Given the description of an element on the screen output the (x, y) to click on. 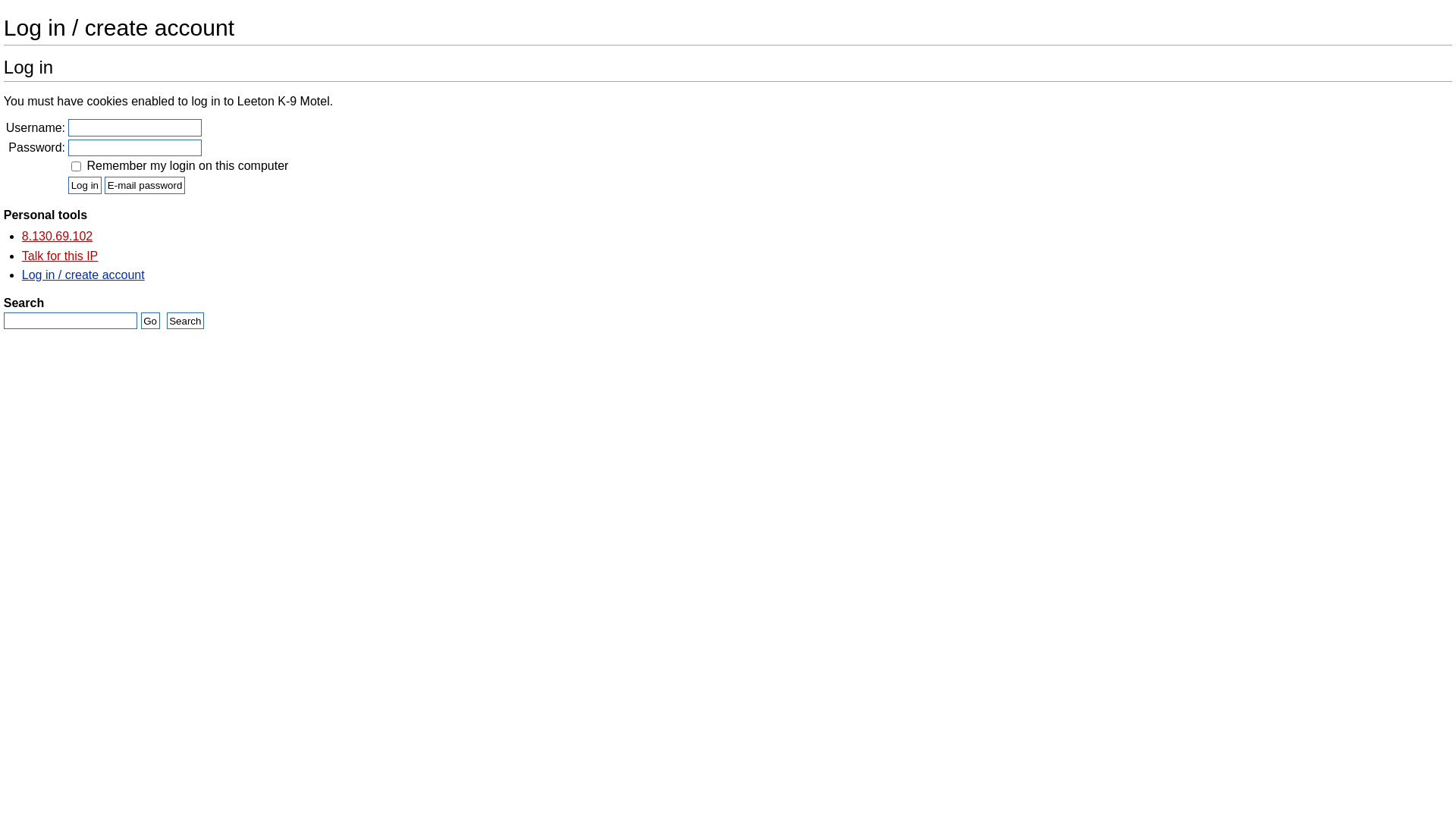
Go Element type: text (150, 320)
Log in Element type: text (84, 184)
E-mail password Element type: text (144, 184)
8.130.69.102 Element type: text (56, 235)
Search Element type: text (185, 320)
Log in / create account Element type: text (82, 274)
Talk for this IP Element type: text (59, 255)
Search Leeton K-9 Motel [ctrl-f] Element type: hover (70, 320)
